Given the description of an element on the screen output the (x, y) to click on. 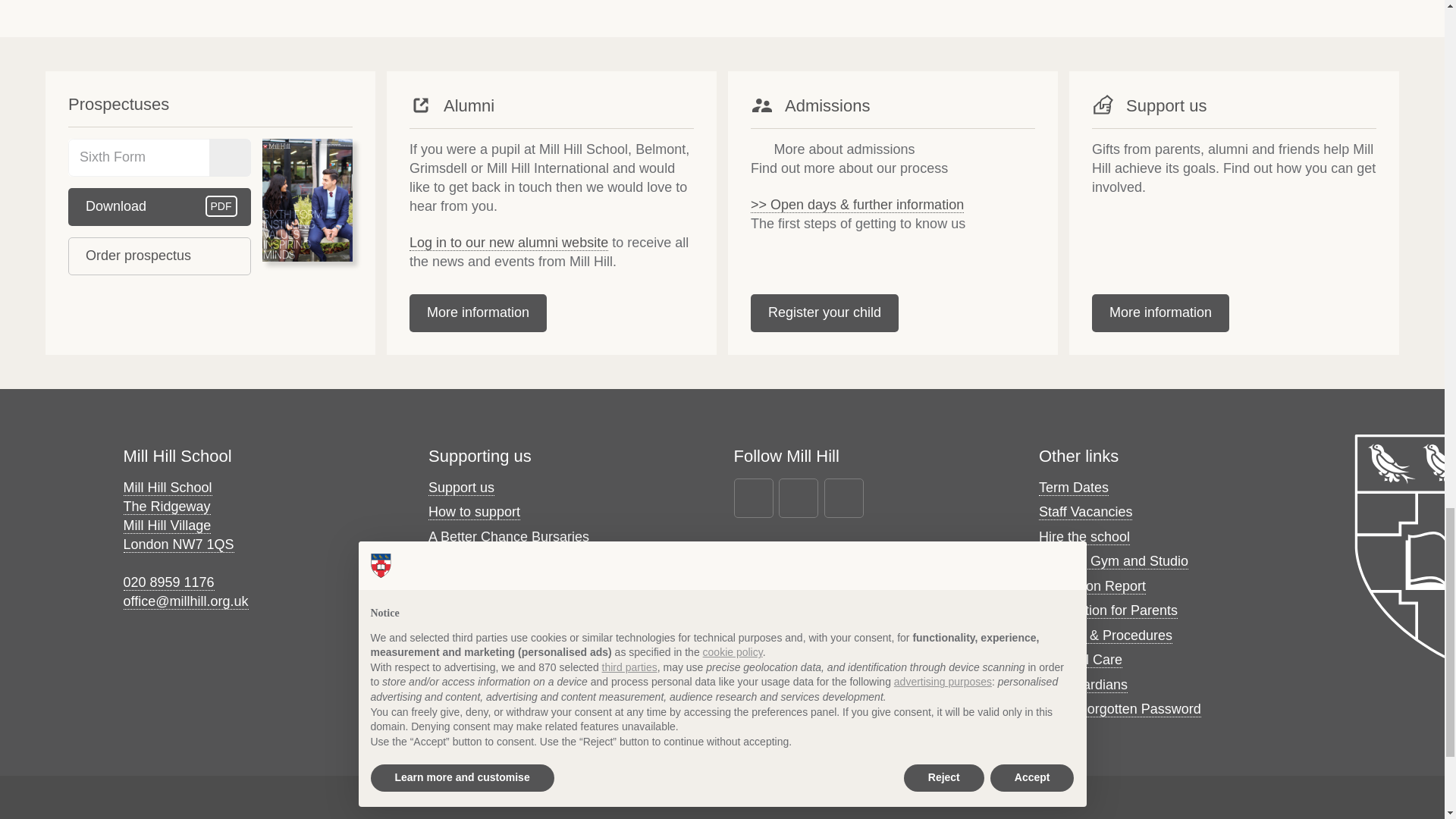
Order prospectus (159, 256)
